Given the description of an element on the screen output the (x, y) to click on. 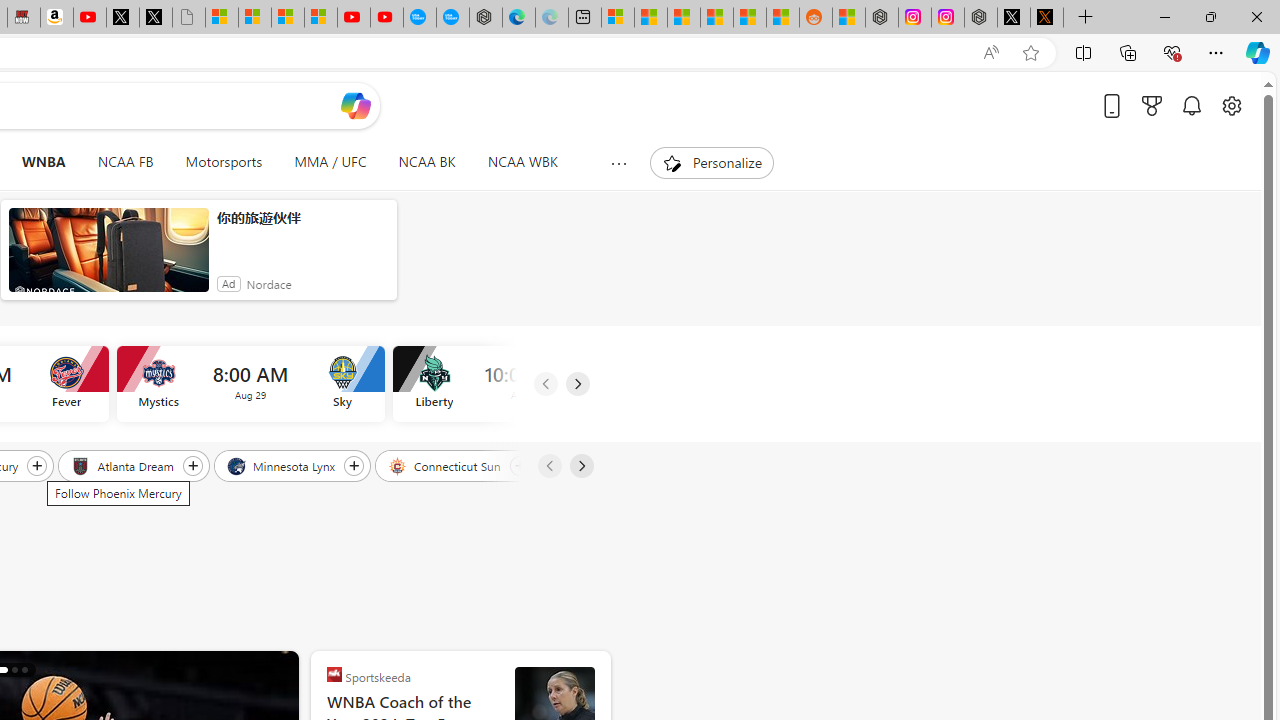
Follow Minnesota Lynx (354, 465)
MMA / UFC (330, 162)
Follow Atlanta Dream (192, 465)
Minnesota Lynx (281, 465)
Liberty vs Sparks Time 10:00 AM Date Aug 29 (525, 383)
NCAA BK (426, 162)
Sportskeeda (333, 673)
Mystics vs Sky Time 8:00 AM Date Aug 29 (250, 383)
anim-content (107, 258)
